Given the description of an element on the screen output the (x, y) to click on. 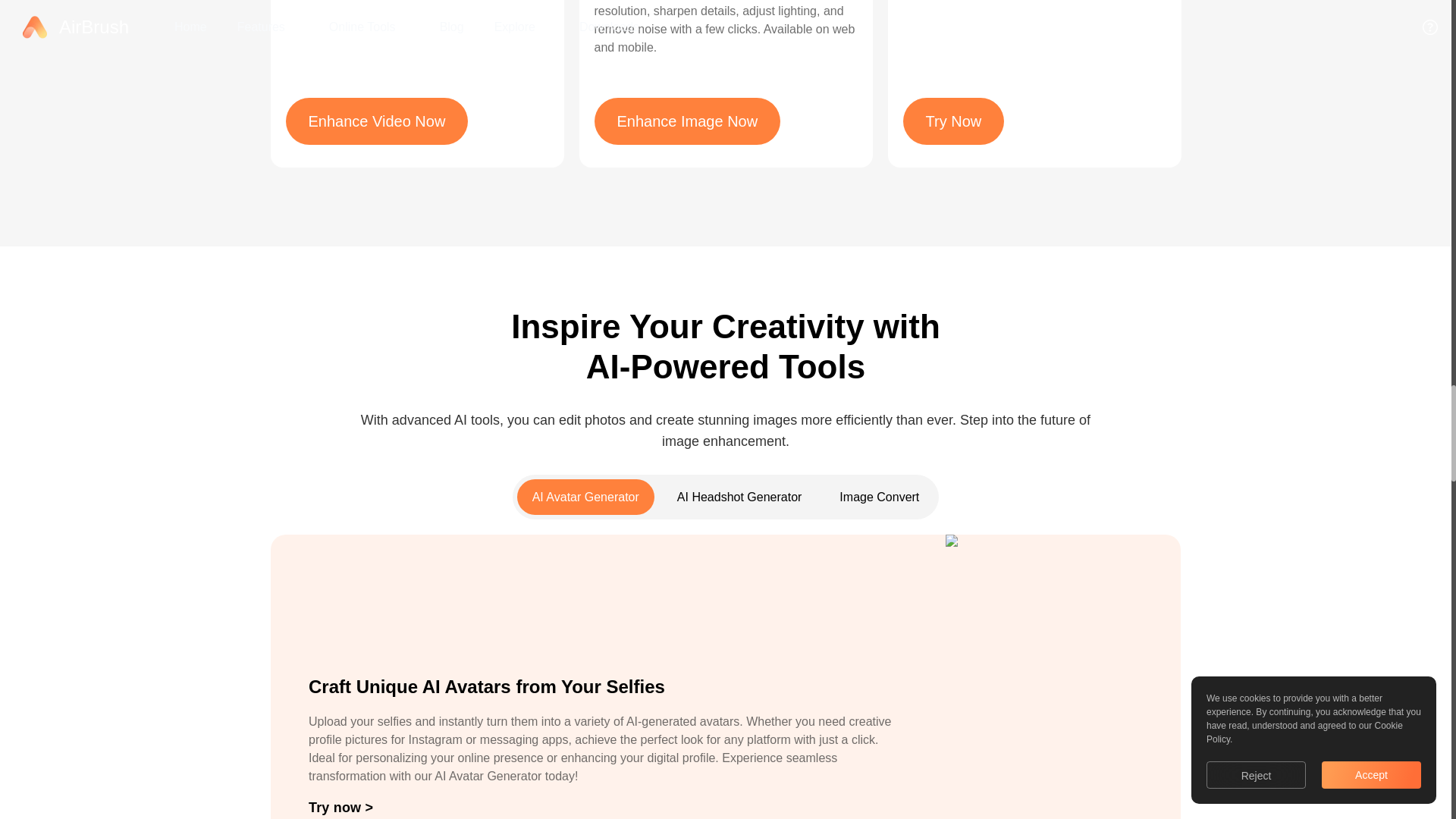
Try Now (953, 120)
Enhance Image Now (687, 120)
Enhance Video Now (376, 120)
Free Download (953, 120)
Enhance Image Now (687, 120)
Enhance Video Now (376, 120)
